Given the description of an element on the screen output the (x, y) to click on. 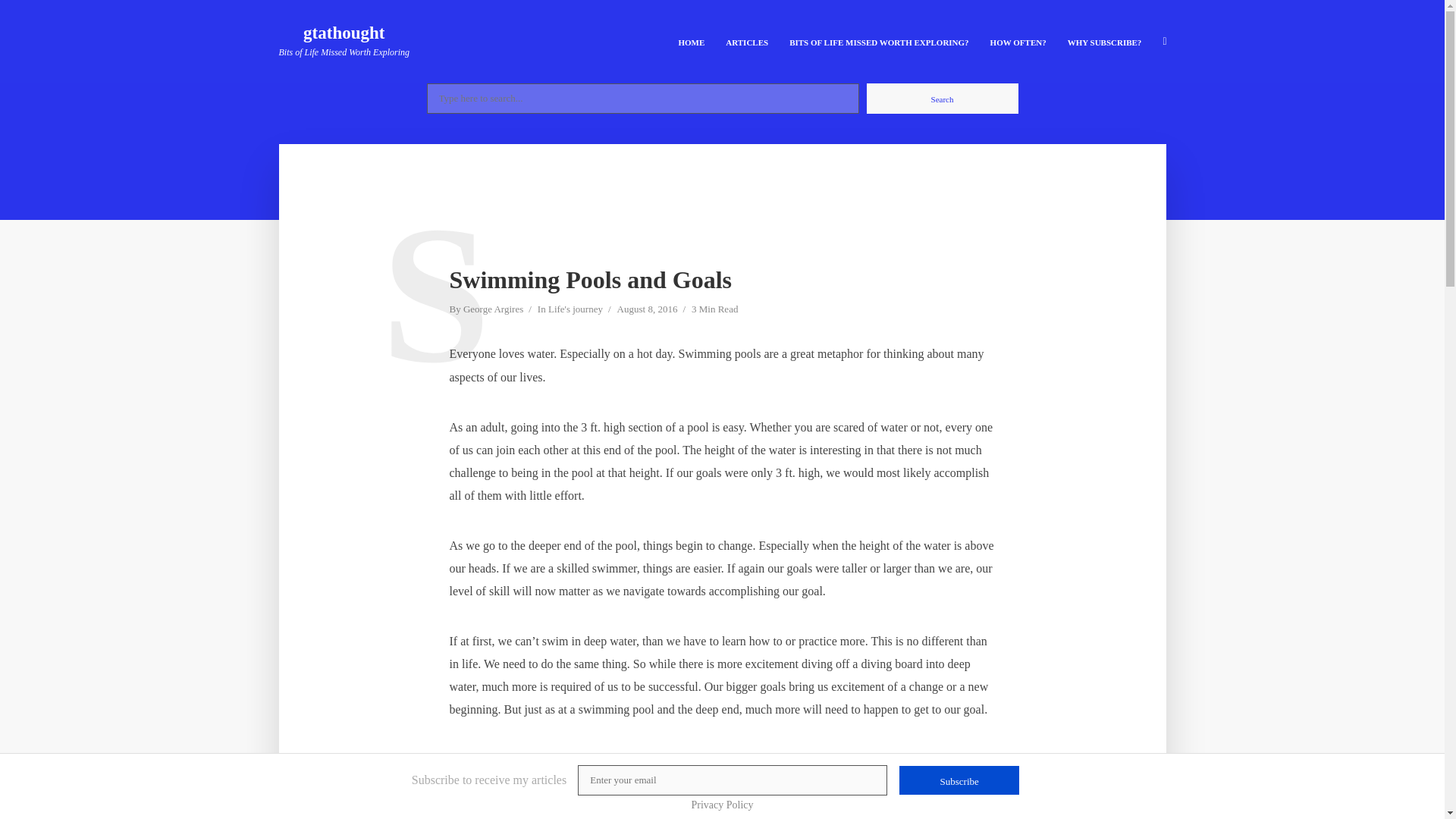
Search (941, 98)
HOW OFTEN? (1018, 41)
WHY SUBSCRIBE? (1105, 41)
Subscribe (959, 779)
ARTICLES (746, 41)
HOME (690, 41)
gtathought (343, 32)
Life's journey (575, 310)
BITS OF LIFE MISSED WORTH EXPLORING? (878, 41)
